Given the description of an element on the screen output the (x, y) to click on. 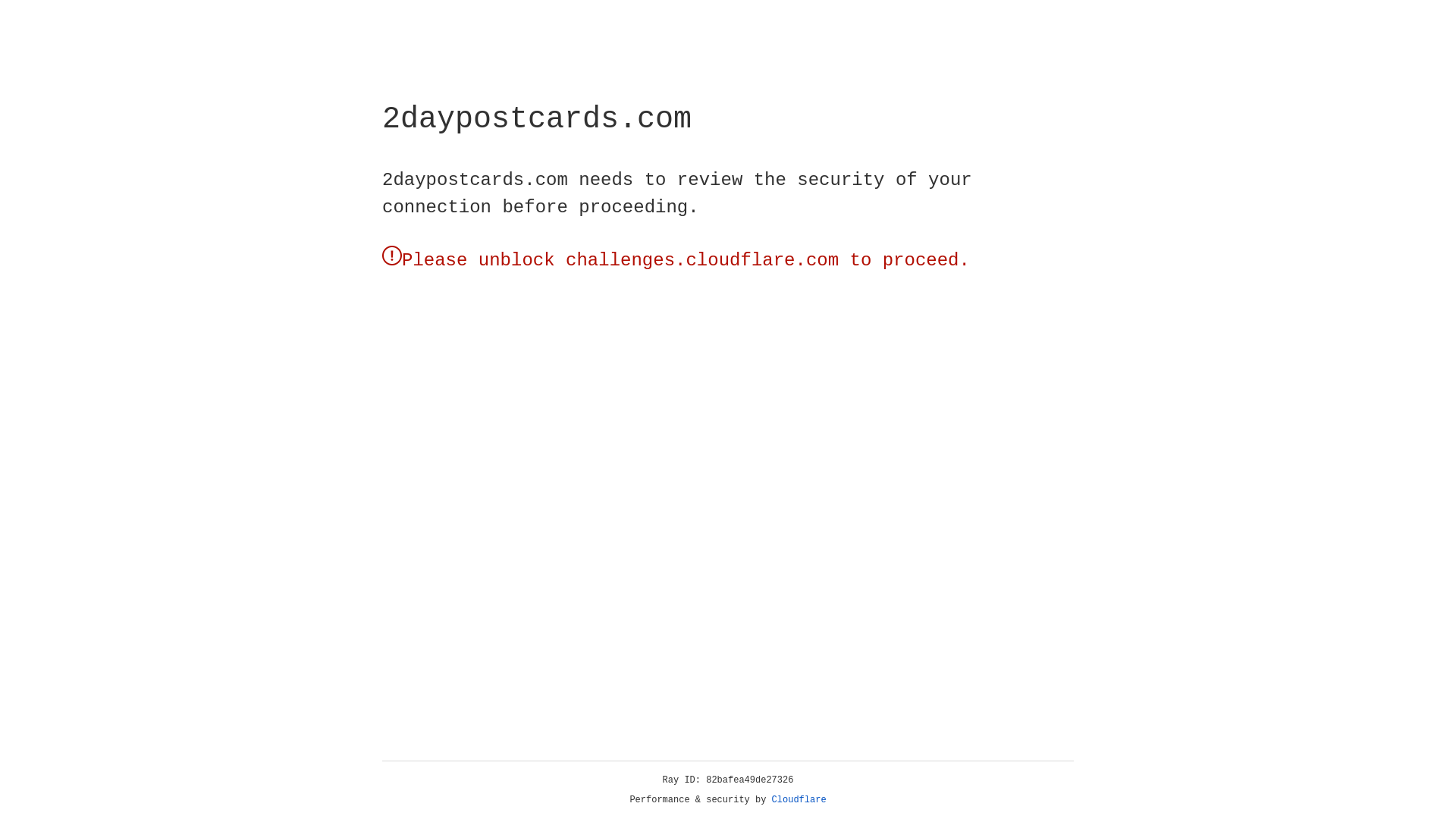
Cloudflare Element type: text (798, 799)
